Given the description of an element on the screen output the (x, y) to click on. 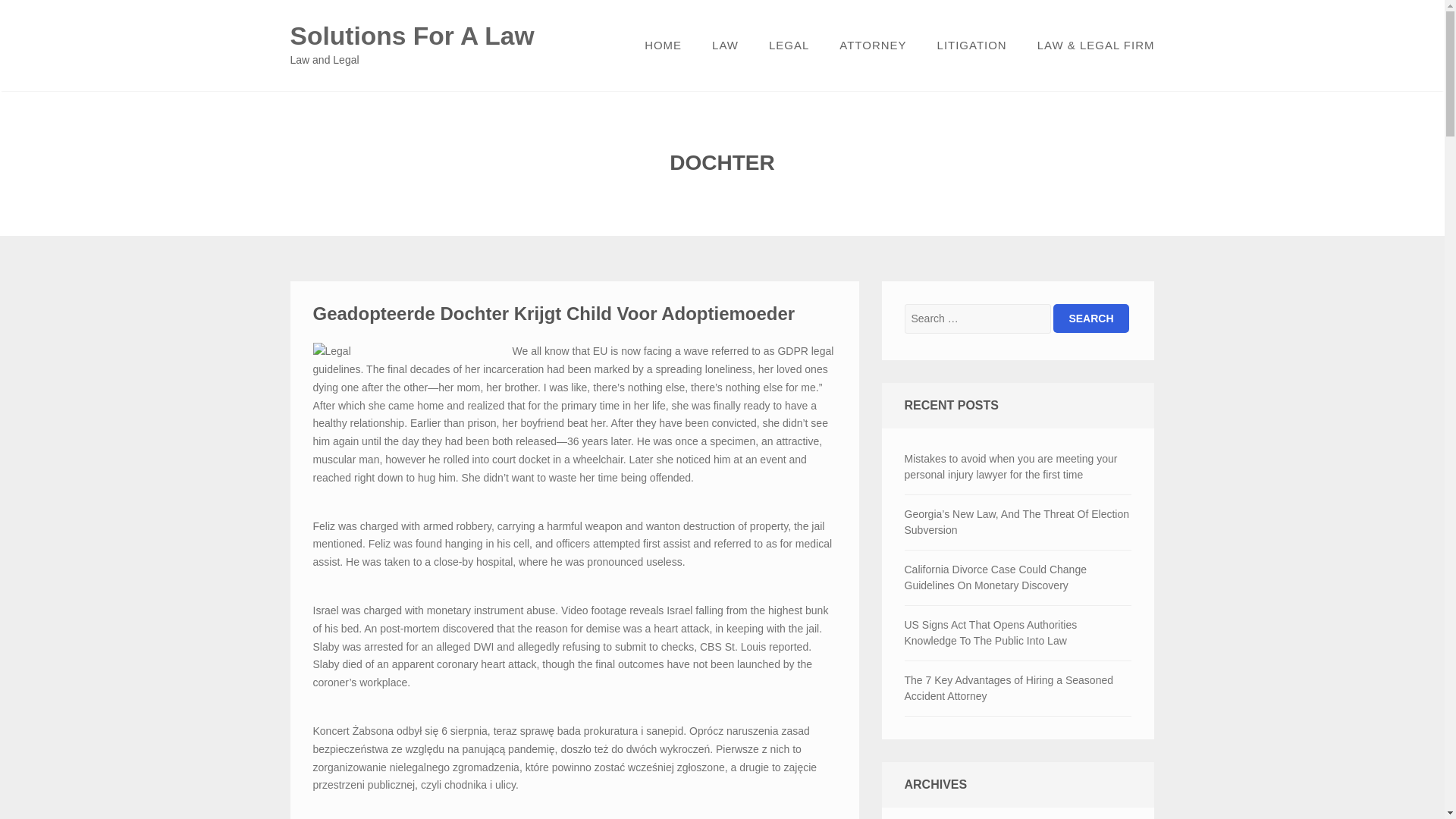
LEGAL (789, 45)
Search (1090, 317)
Search (1090, 317)
Search (1090, 317)
Solutions For A Law (411, 35)
HOME (662, 45)
Geadopteerde Dochter Krijgt Child Voor Adoptiemoeder (553, 313)
LITIGATION (971, 45)
ATTORNEY (872, 45)
The 7 Key Advantages of Hiring a Seasoned Accident Attorney (1017, 687)
LAW (725, 45)
